Given the description of an element on the screen output the (x, y) to click on. 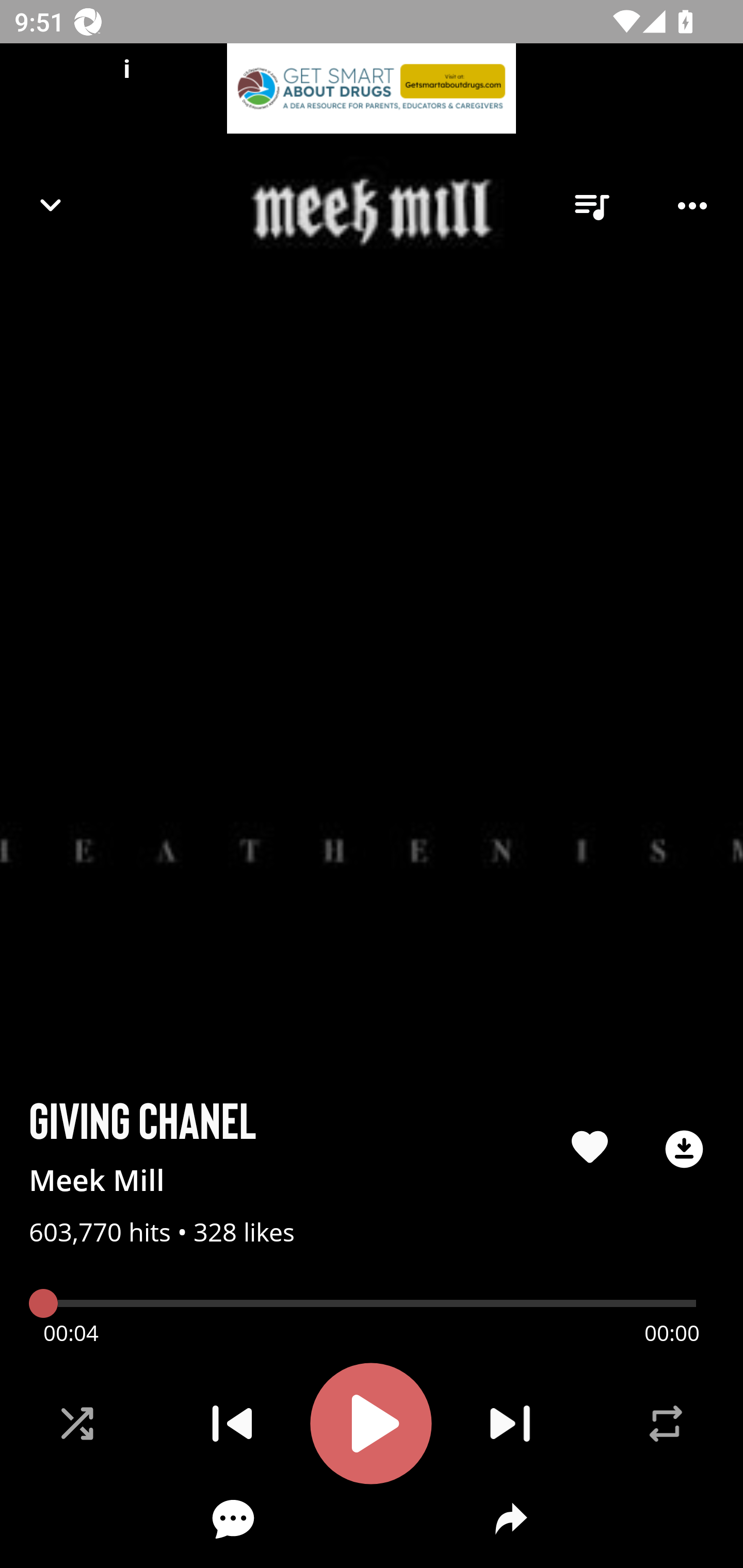
Navigate up (50, 205)
queue (590, 206)
Player options (692, 206)
